Given the description of an element on the screen output the (x, y) to click on. 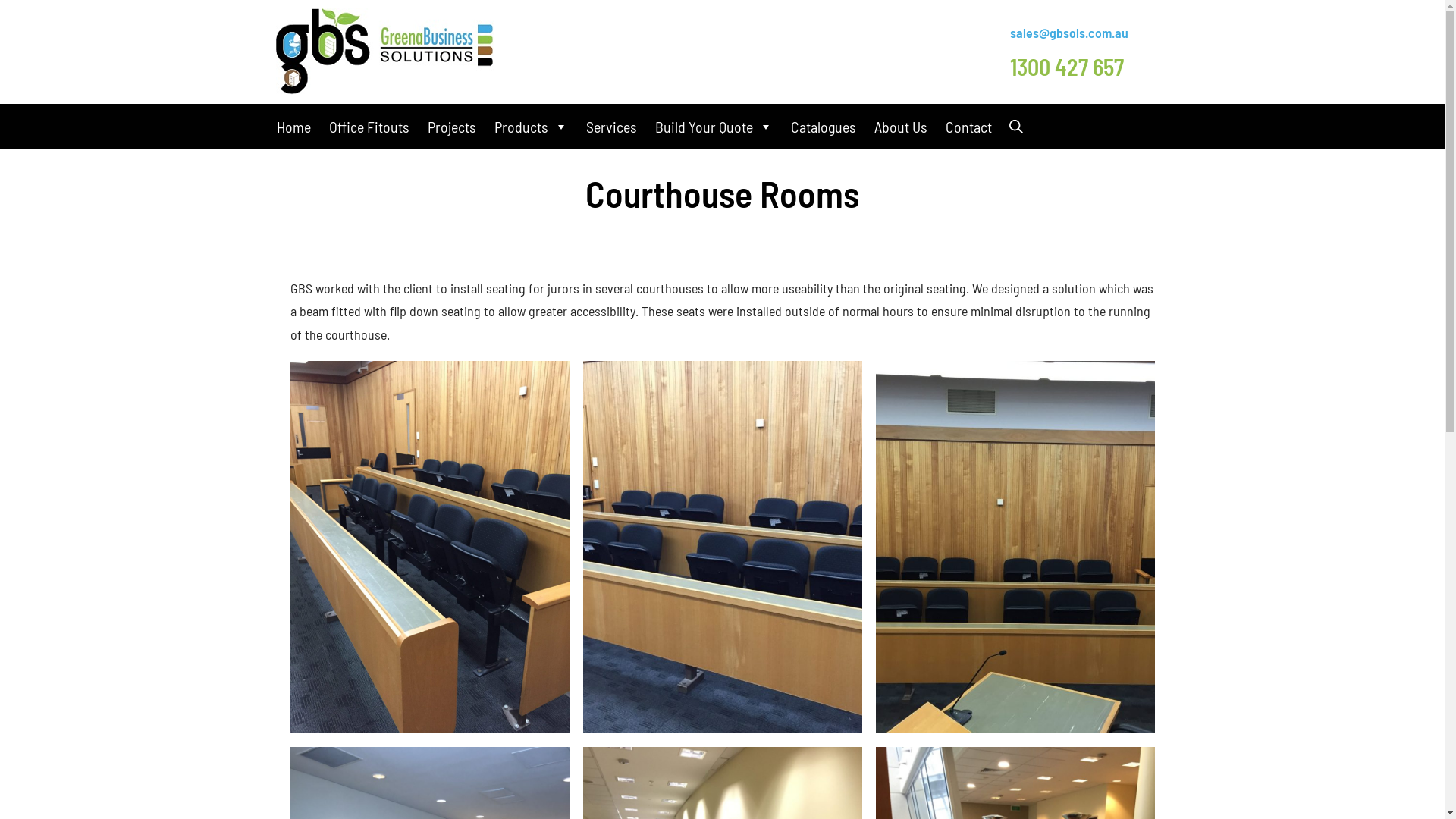
Catalogues Element type: text (822, 126)
Products Element type: text (531, 126)
Build Your Quote Element type: text (713, 126)
Services Element type: text (610, 126)
About Us Element type: text (899, 126)
Office Fitouts Element type: text (369, 126)
Home Element type: text (292, 126)
Contact Element type: text (967, 126)
1300 427 657 Element type: text (1066, 66)
Projects Element type: text (451, 126)
sales@gbsols.com.au Element type: text (1069, 32)
